Given the description of an element on the screen output the (x, y) to click on. 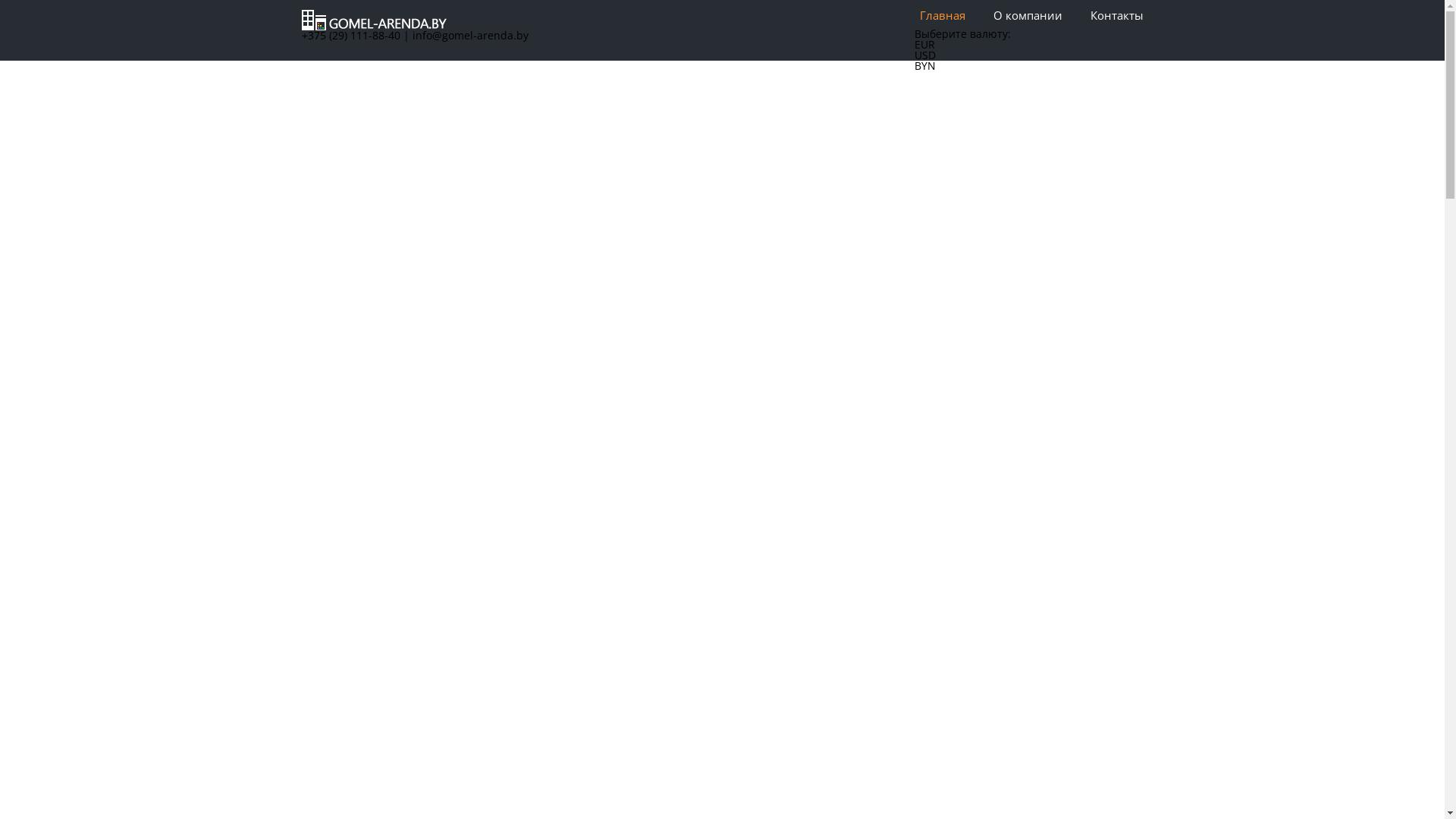
info@gomel-arenda.by Element type: text (470, 35)
+375 (29) 111-88-40 Element type: text (350, 35)
